Given the description of an element on the screen output the (x, y) to click on. 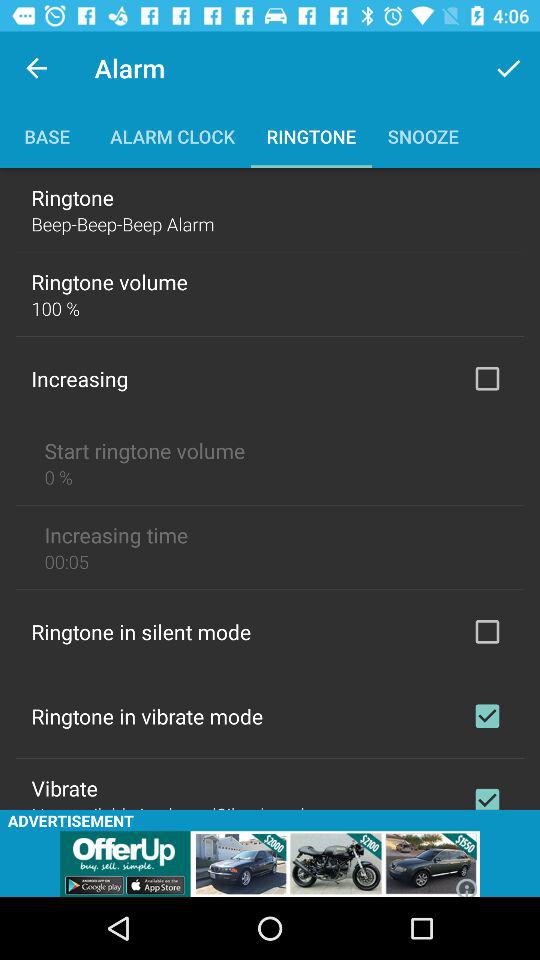
select vibrate (487, 794)
